Given the description of an element on the screen output the (x, y) to click on. 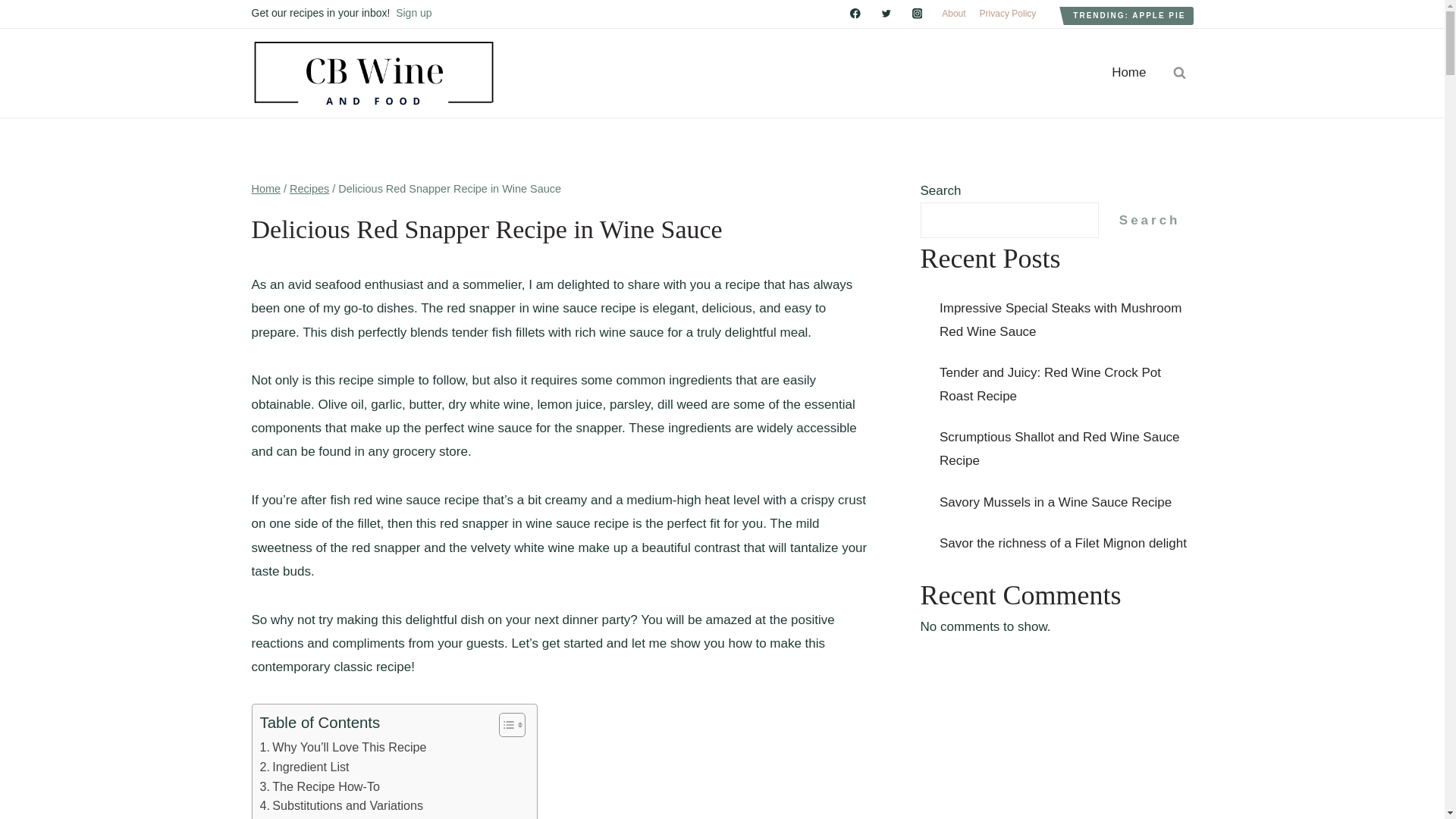
Sign up (413, 12)
Home (266, 188)
The Recipe How-To (318, 786)
Serving and Pairing (318, 817)
About (953, 13)
The Recipe How-To (318, 786)
Home (1128, 72)
Privacy Policy (1007, 13)
Ingredient List (304, 767)
Substitutions and Variations (341, 805)
Serving and Pairing (318, 817)
Substitutions and Variations (341, 805)
Ingredient List (304, 767)
Recipes (309, 188)
TRENDING: APPLE PIE (1128, 15)
